Given the description of an element on the screen output the (x, y) to click on. 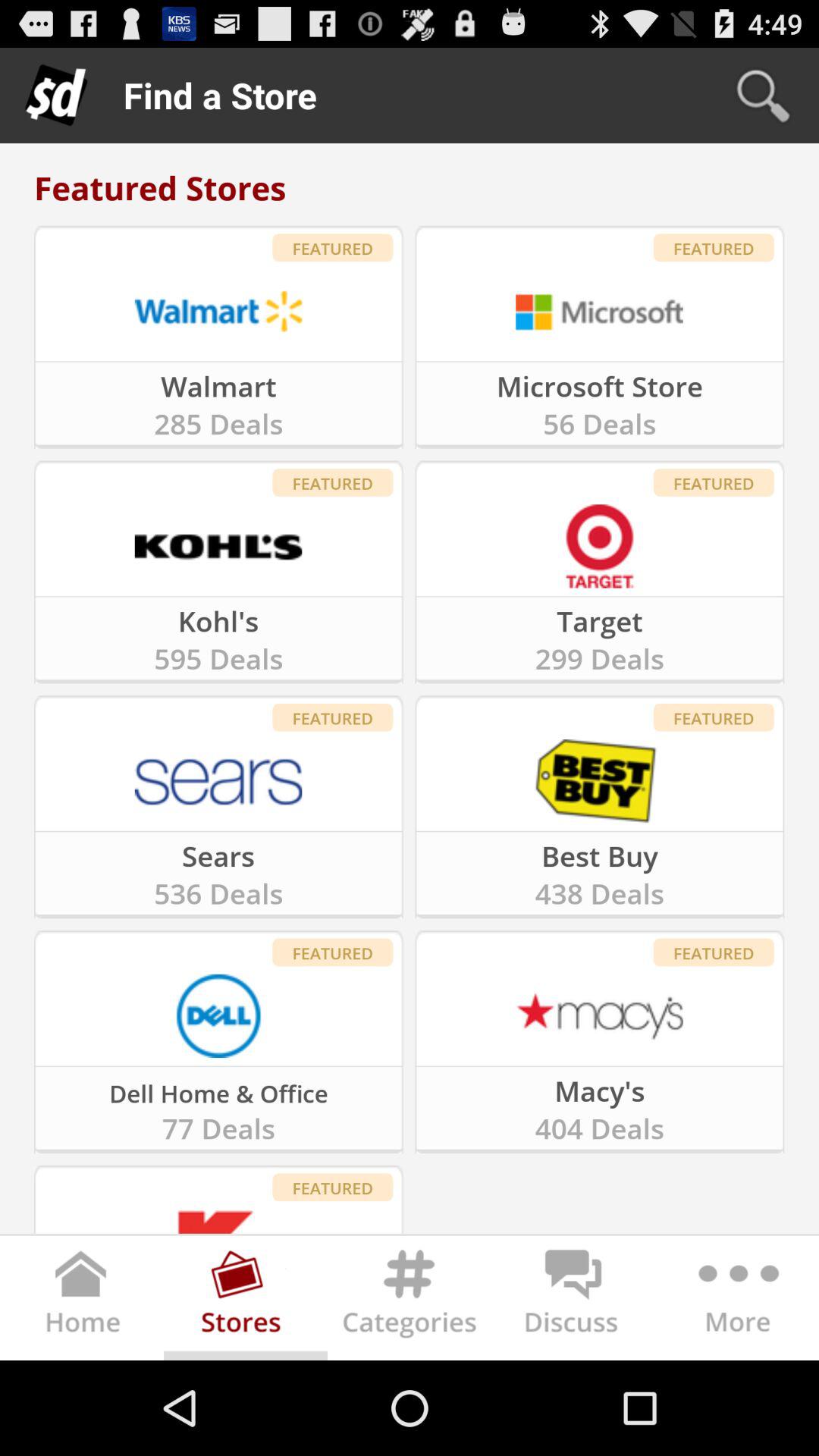
discuss the topic (573, 1301)
